Given the description of an element on the screen output the (x, y) to click on. 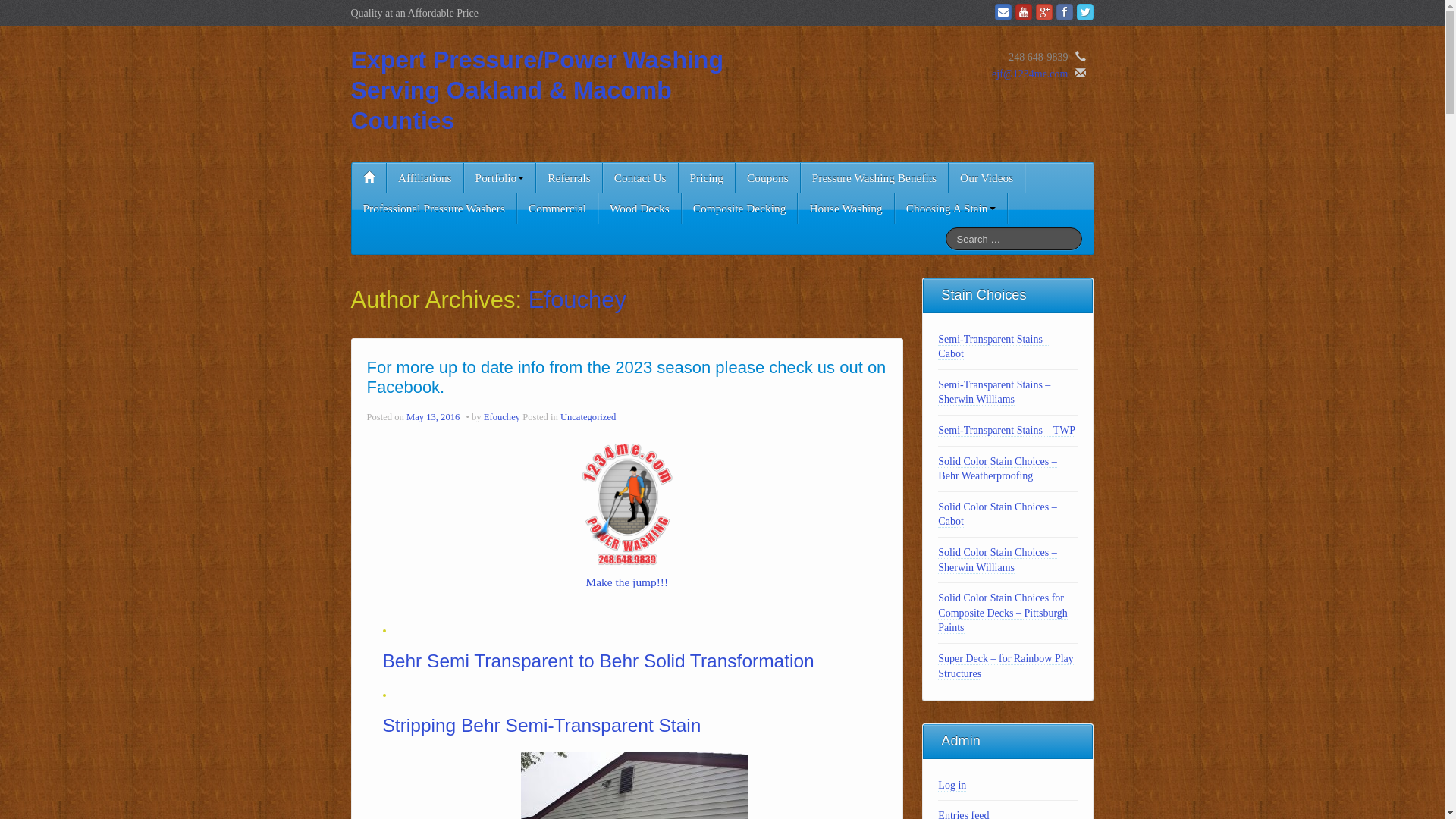
May 13, 2016 Element type: text (433, 416)
House Washing Element type: text (845, 208)
ejf@1234me.com Element type: text (1029, 73)
Wood Decks Element type: text (639, 208)
Stripping Behr Semi-Transparent Stain Element type: text (541, 725)
Make the jump!!! Element type: text (627, 581)
Efouchey Element type: text (577, 299)
Our Videos Element type: text (986, 178)
Pressure Washing Benefits Element type: text (873, 178)
Uncategorized Element type: text (587, 416)
Referrals Element type: text (568, 178)
Behr Semi Transparent to Behr Solid Transformation Element type: text (597, 660)
Affiliations Element type: text (424, 178)
Pricing Element type: text (706, 178)
Portfolio Element type: text (500, 178)
Composite Decking Element type: text (739, 208)
Choosing A Stain Element type: text (950, 208)
Contact Us Element type: text (639, 178)
Efouchey Element type: text (501, 416)
Log in Element type: text (952, 785)
Coupons Element type: text (767, 178)
Commercial Element type: text (557, 208)
Professional Pressure Washers Element type: text (433, 208)
